Given the description of an element on the screen output the (x, y) to click on. 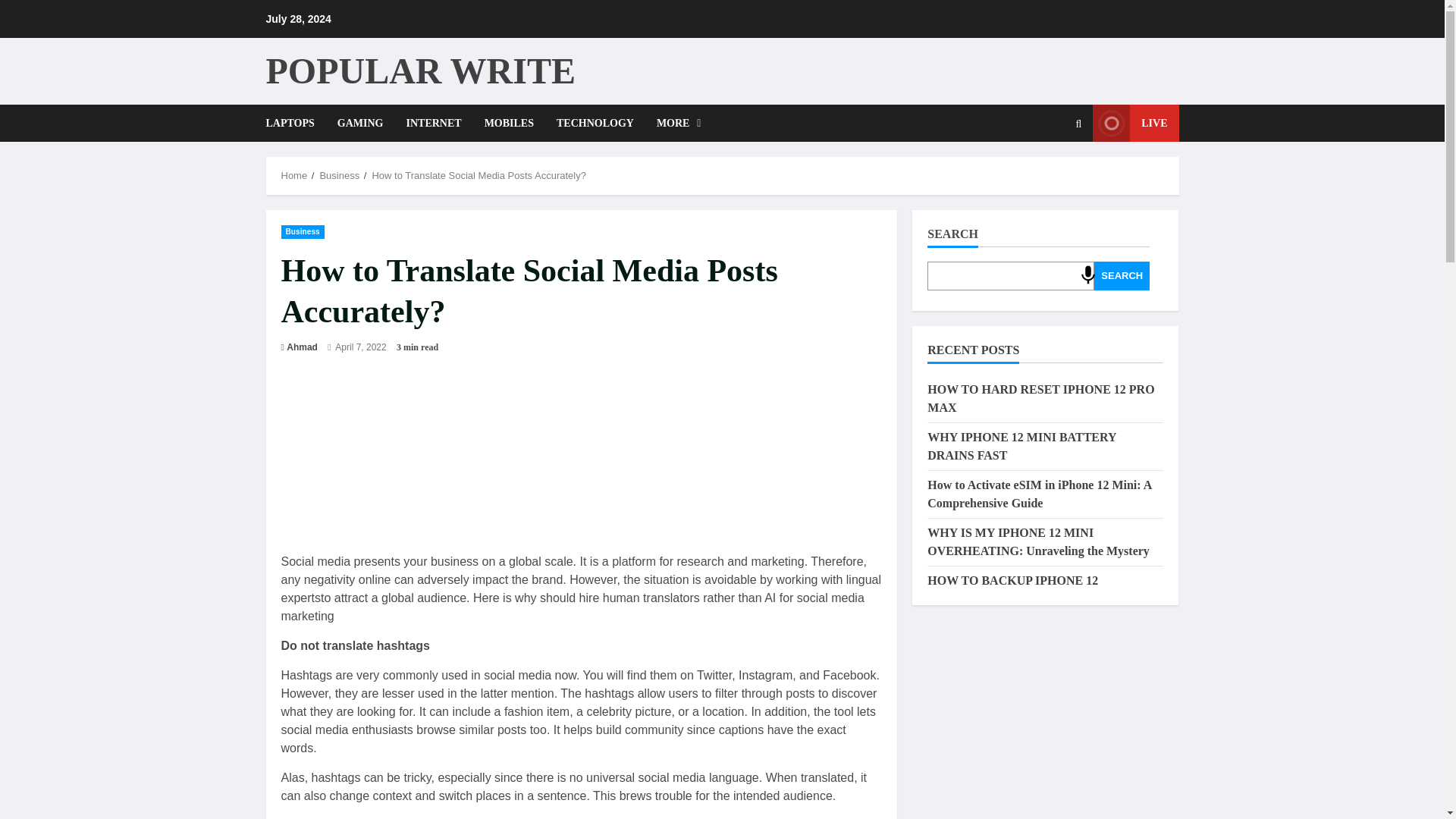
MOBILES (508, 122)
Advertisement (581, 471)
GAMING (360, 122)
Search (1078, 123)
Ahmad (301, 346)
MORE (673, 122)
LIVE (1135, 122)
Search (1014, 174)
WHY IPHONE 12 MINI BATTERY DRAINS FAST (1021, 445)
Business (338, 174)
HOW TO HARD RESET IPHONE 12 PRO MAX (1040, 398)
POPULAR WRITE (419, 70)
SEARCH (1122, 275)
SPEECH INPUT (1088, 274)
